Given the description of an element on the screen output the (x, y) to click on. 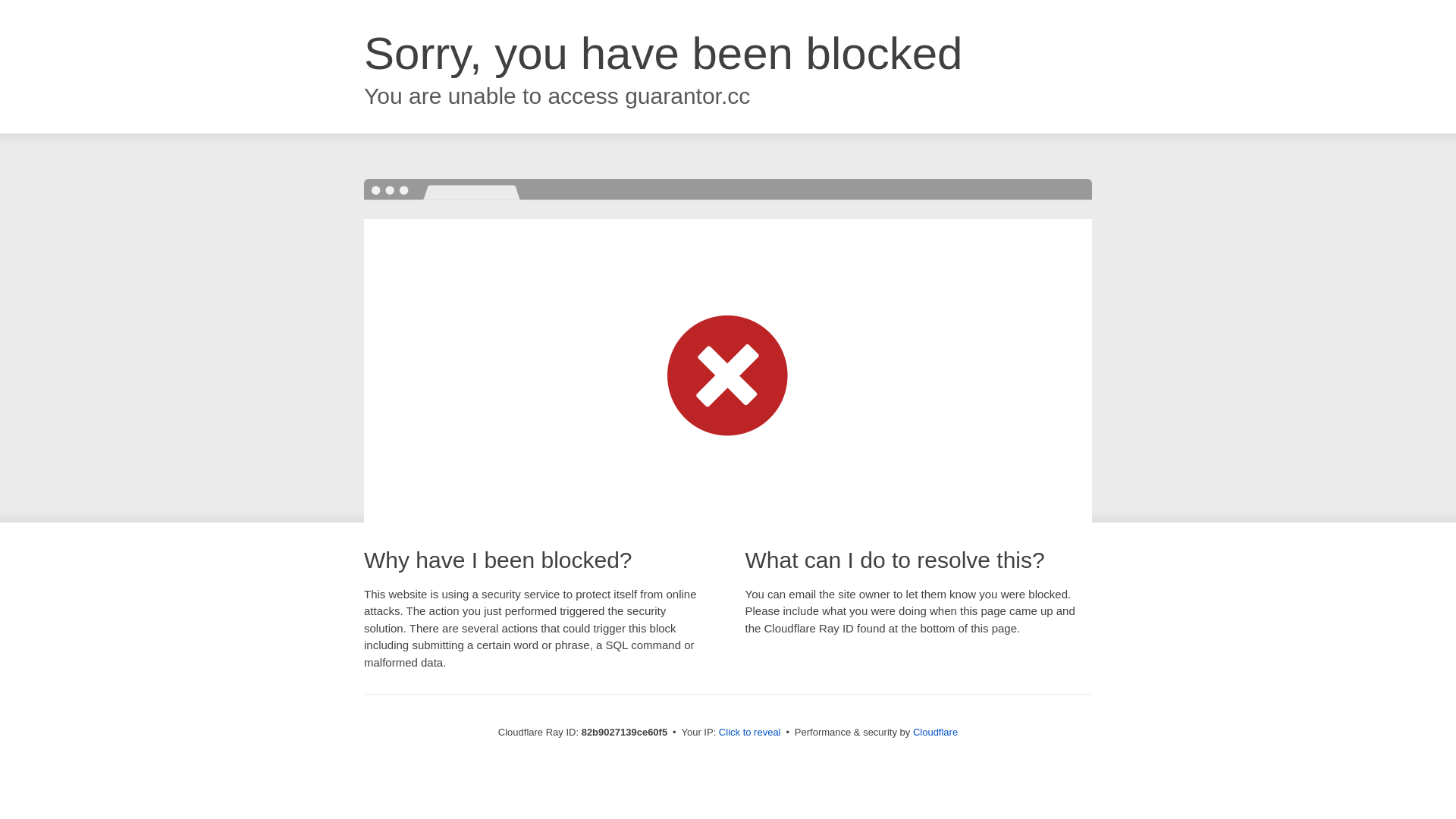
Cloudflare Element type: text (935, 731)
Click to reveal Element type: text (749, 732)
